Given the description of an element on the screen output the (x, y) to click on. 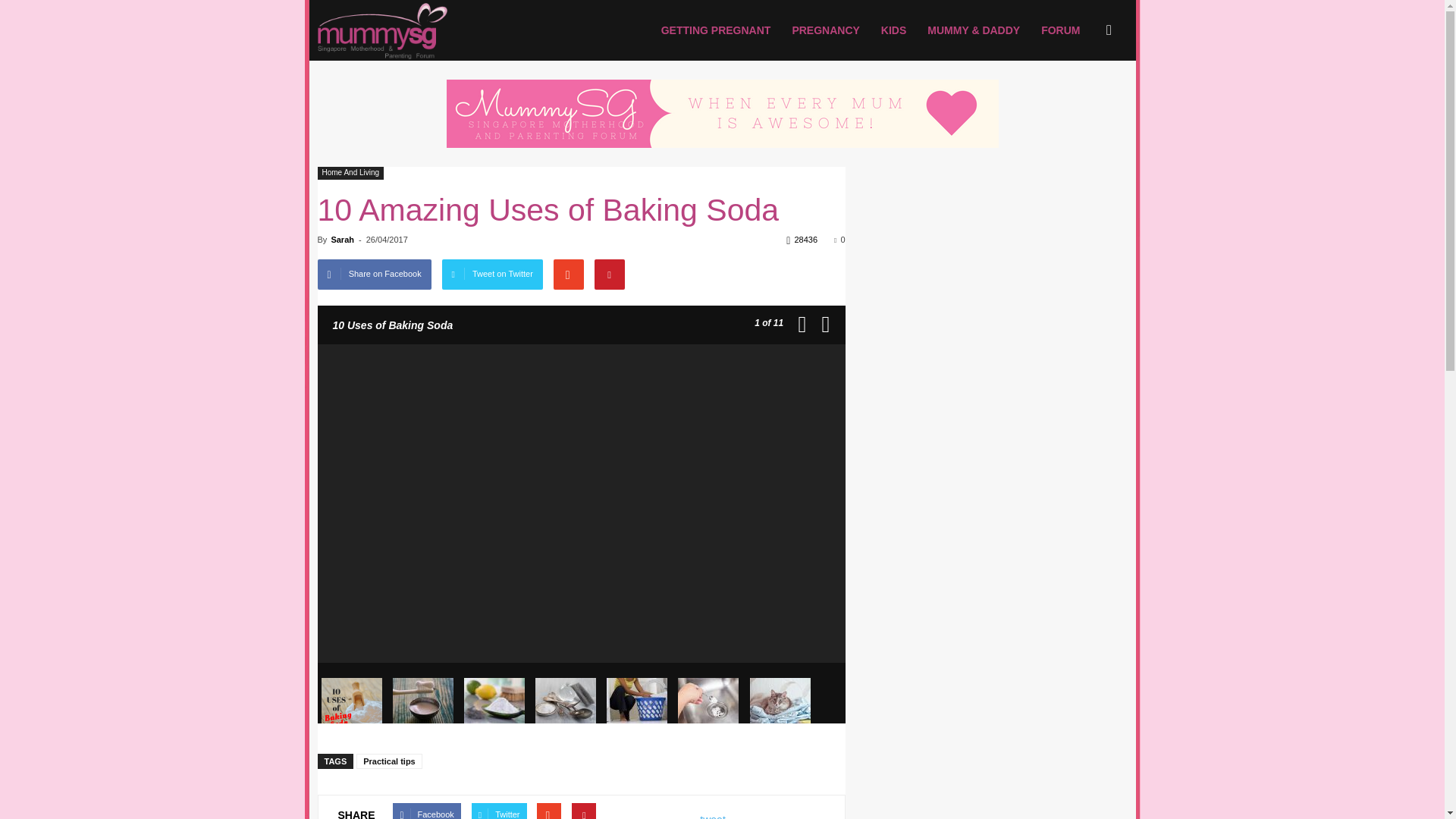
Sarah (341, 239)
0 (839, 239)
MummySG (381, 30)
Share on Facebook (373, 274)
GETTING PREGNANT (715, 30)
Tweet on Twitter (492, 274)
FORUM (1060, 30)
Home And Living (350, 173)
PREGNANCY (824, 30)
